Given the description of an element on the screen output the (x, y) to click on. 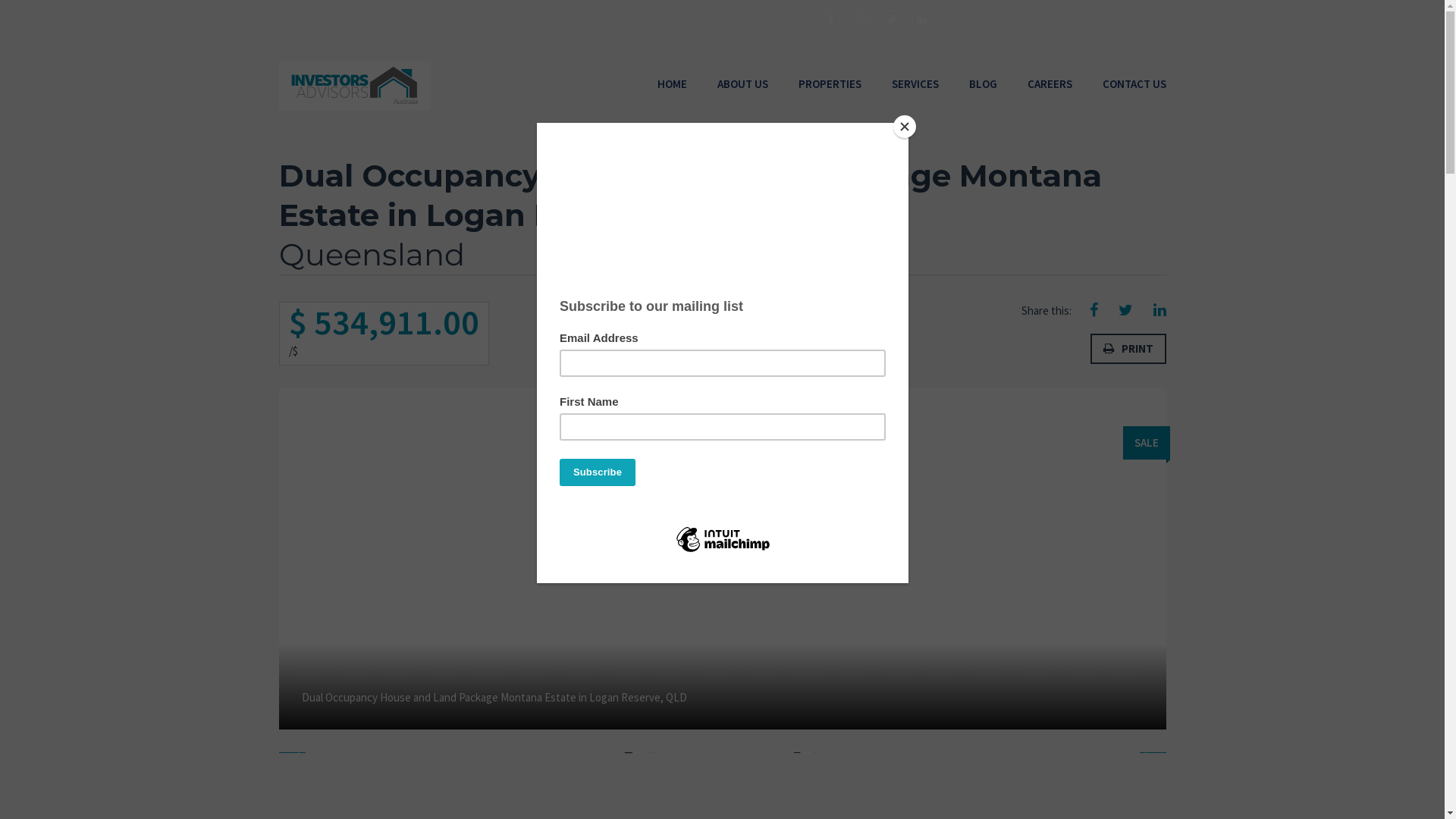
Investors Advisors  Element type: hover (354, 85)
CONTACT US Element type: text (1134, 84)
HOME Element type: text (671, 84)
CAREERS Element type: text (1048, 84)
ABOUT US Element type: text (742, 84)
PROPERTIES Element type: text (828, 84)
BLOG Element type: text (983, 84)
PRINT Element type: text (1128, 348)
SERVICES Element type: text (914, 84)
